Given the description of an element on the screen output the (x, y) to click on. 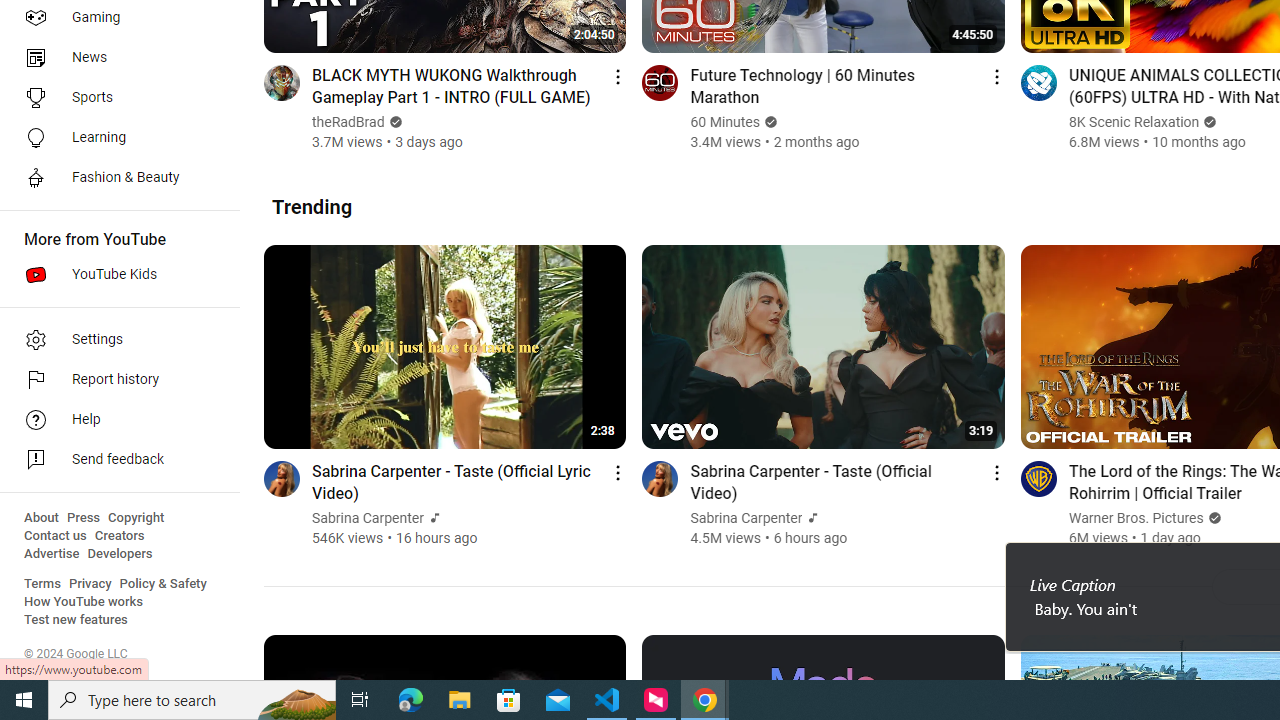
YouTube Kids (113, 274)
theRadBrad (349, 122)
Sabrina Carpenter (746, 518)
Send feedback (113, 459)
